Given the description of an element on the screen output the (x, y) to click on. 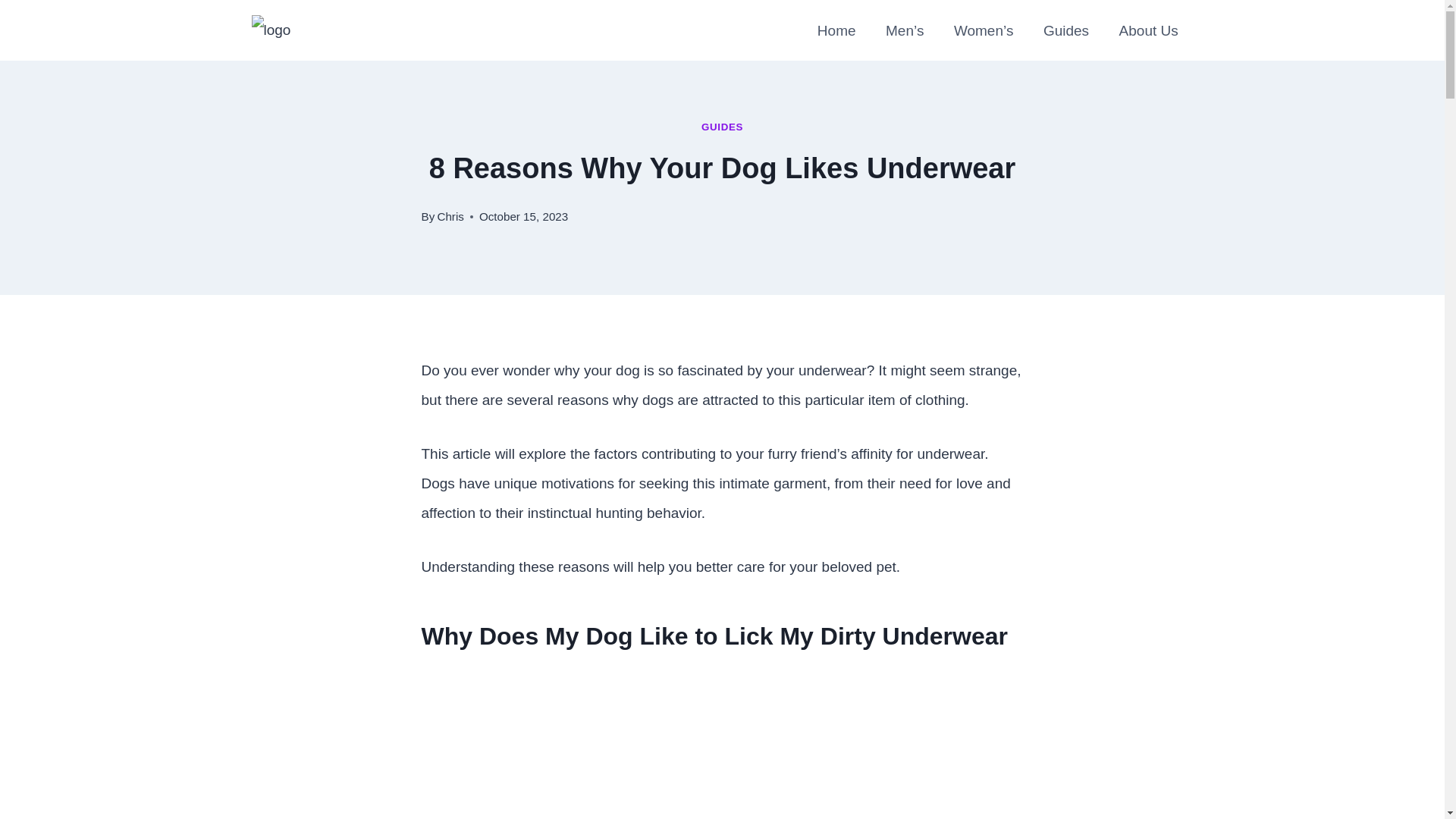
Guides (1065, 30)
Chris (449, 215)
Home (836, 30)
About Us (1148, 30)
GUIDES (721, 126)
